Given the description of an element on the screen output the (x, y) to click on. 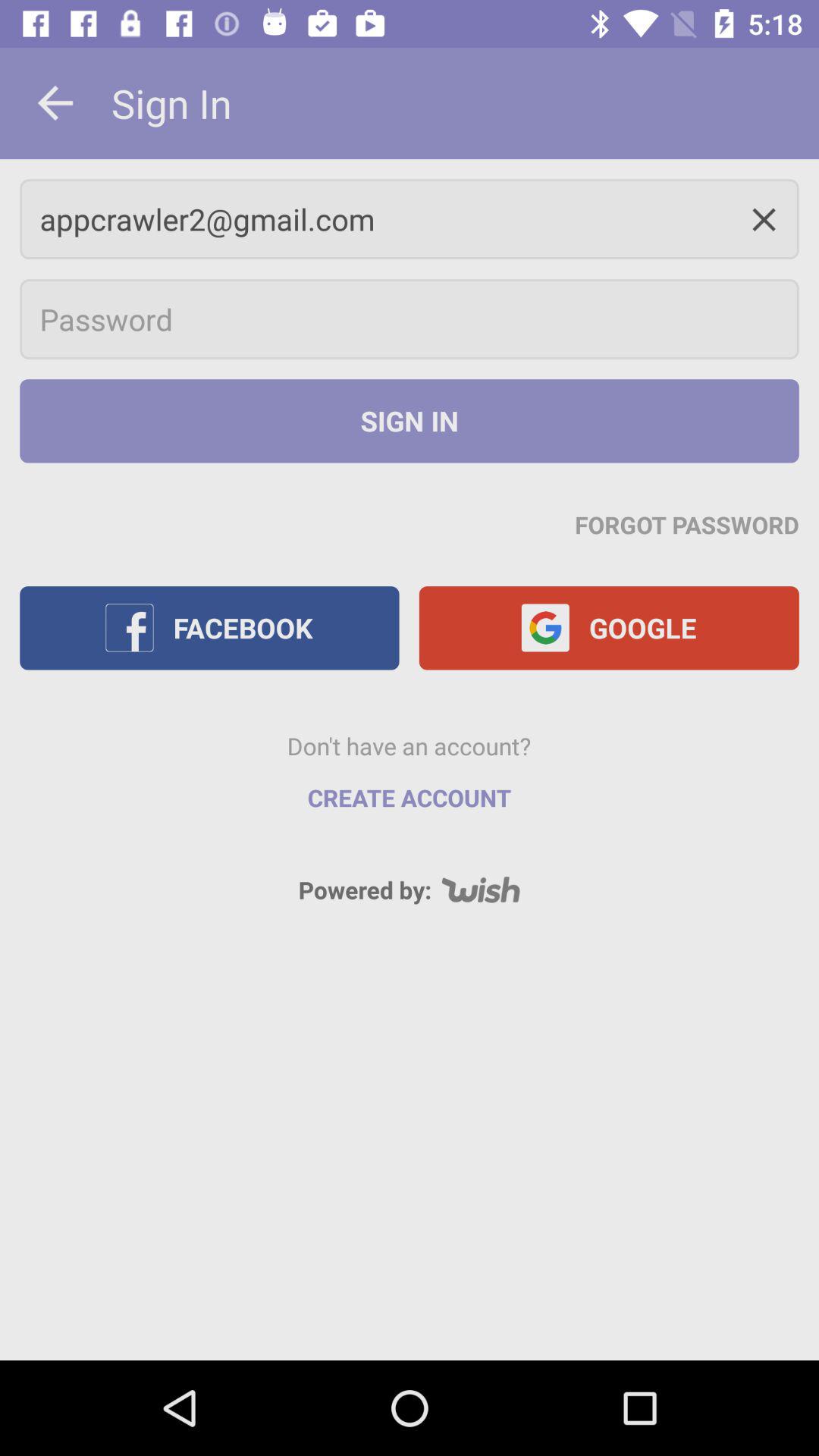
press item below don t have (409, 797)
